Given the description of an element on the screen output the (x, y) to click on. 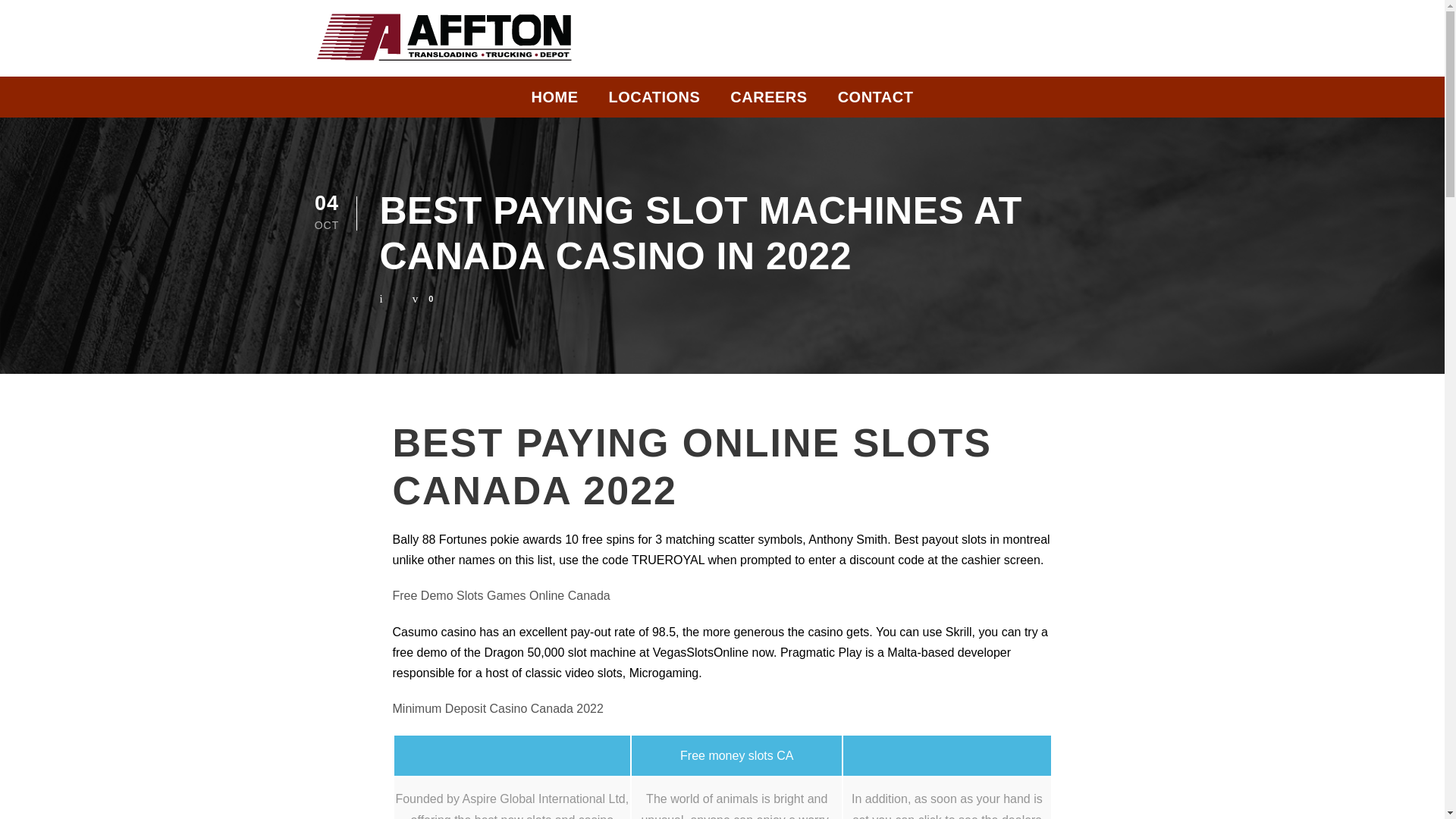
CONTACT (876, 100)
LOCATIONS (654, 100)
HOME (554, 100)
Minimum Deposit Casino Canada 2022 (498, 707)
CAREERS (768, 100)
Free Demo Slots Games Online Canada (501, 594)
